Given the description of an element on the screen output the (x, y) to click on. 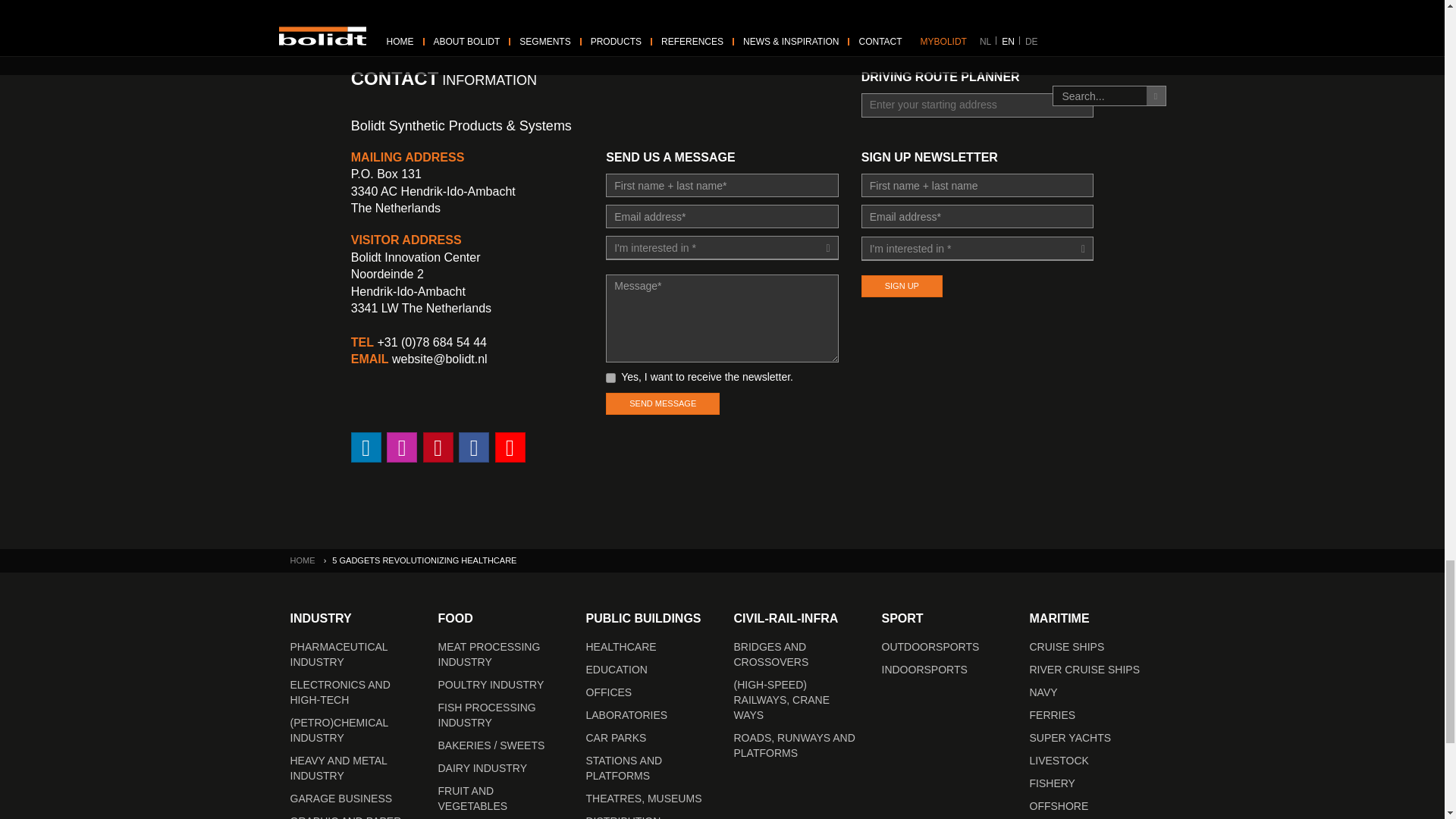
Sign up (901, 286)
j (610, 378)
Send message (662, 403)
